Given the description of an element on the screen output the (x, y) to click on. 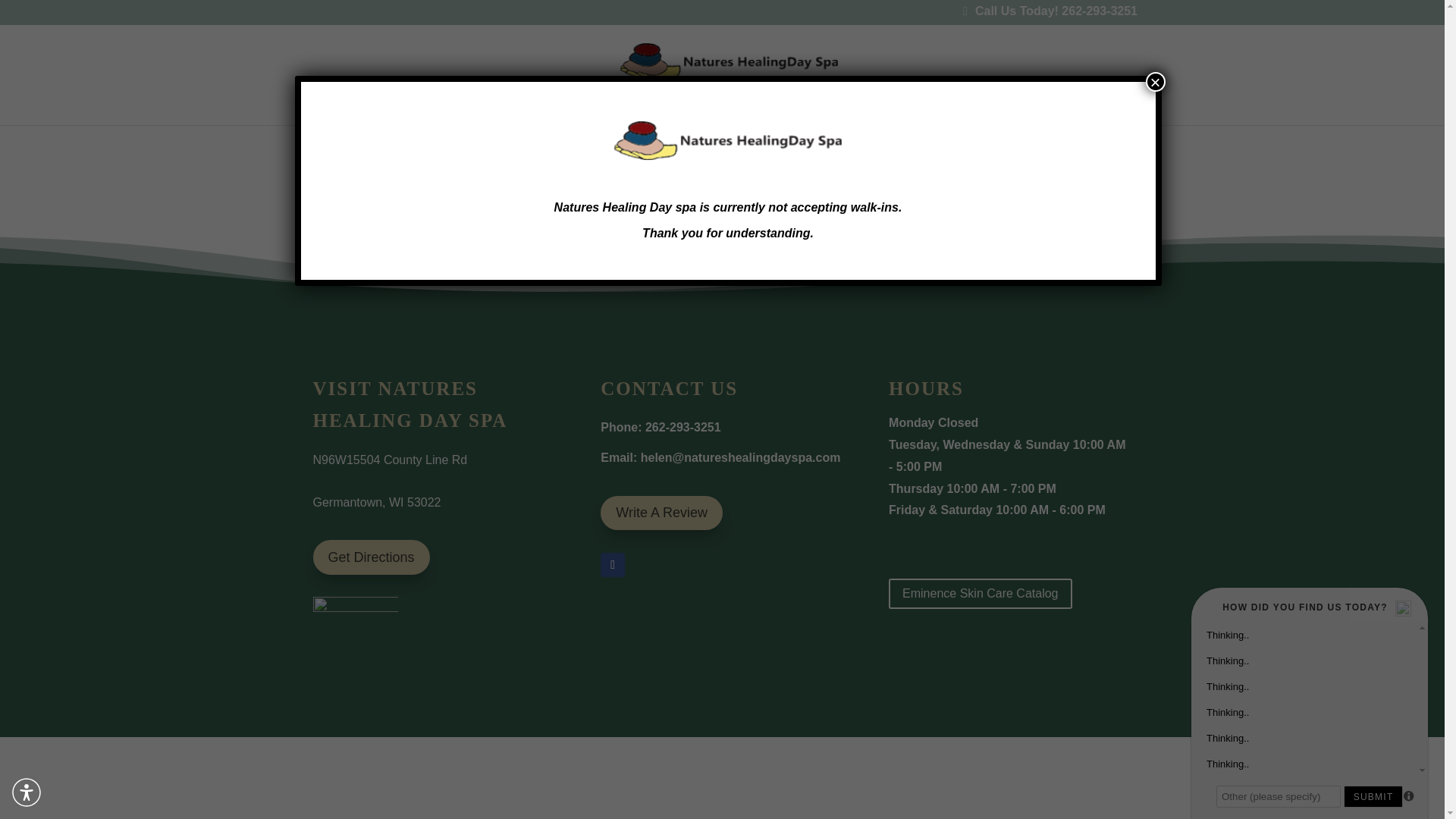
Follow on Facebook (611, 564)
